Given the description of an element on the screen output the (x, y) to click on. 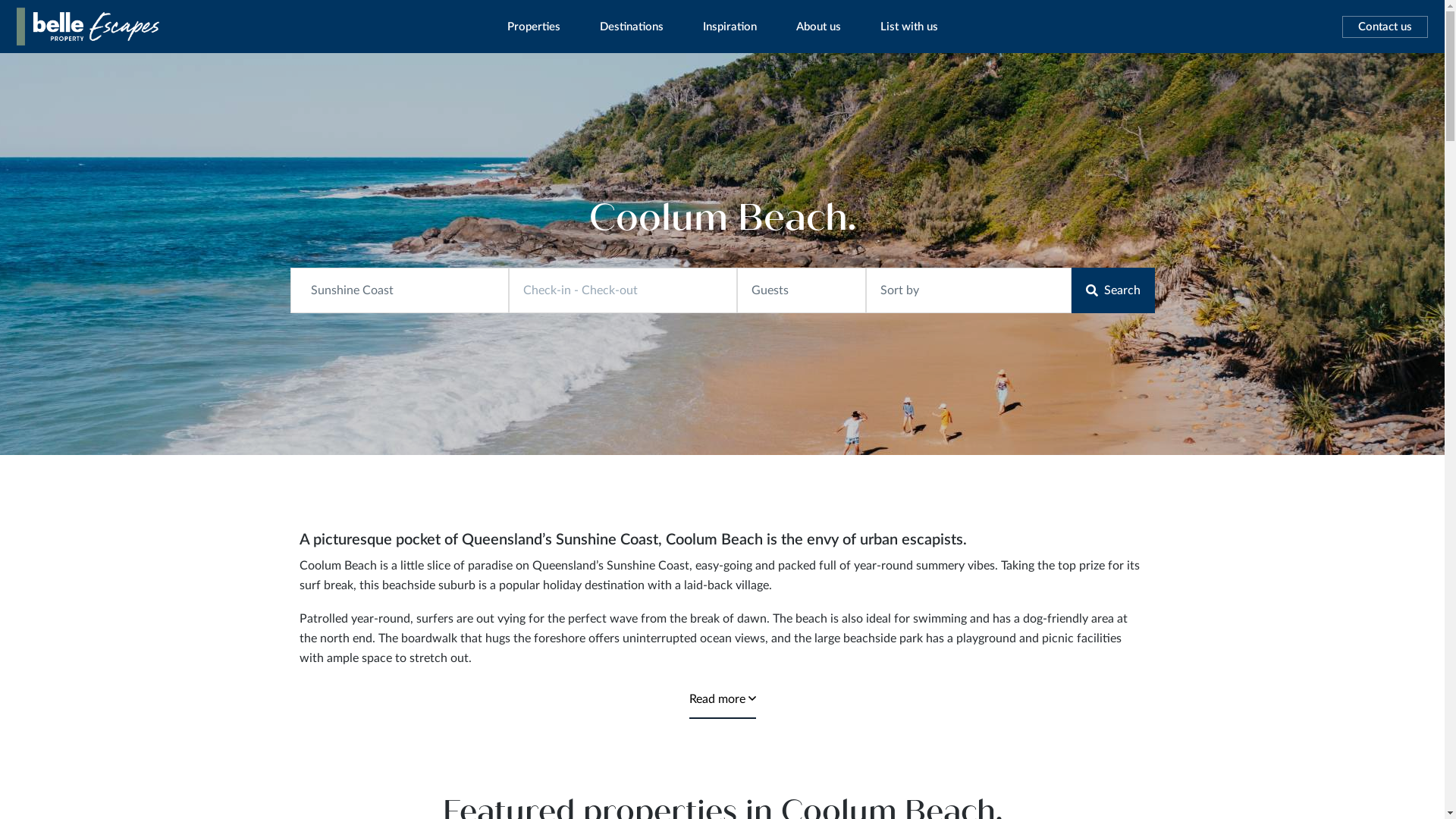
About us Element type: text (818, 26)
List with us Element type: text (909, 26)
Belle Escapes Element type: text (67, 70)
Read more Element type: text (721, 699)
Contact us Element type: text (1384, 26)
Inspiration Element type: text (729, 26)
Search Element type: text (1112, 290)
Properties Element type: text (533, 26)
Destinations Element type: text (631, 26)
